Given the description of an element on the screen output the (x, y) to click on. 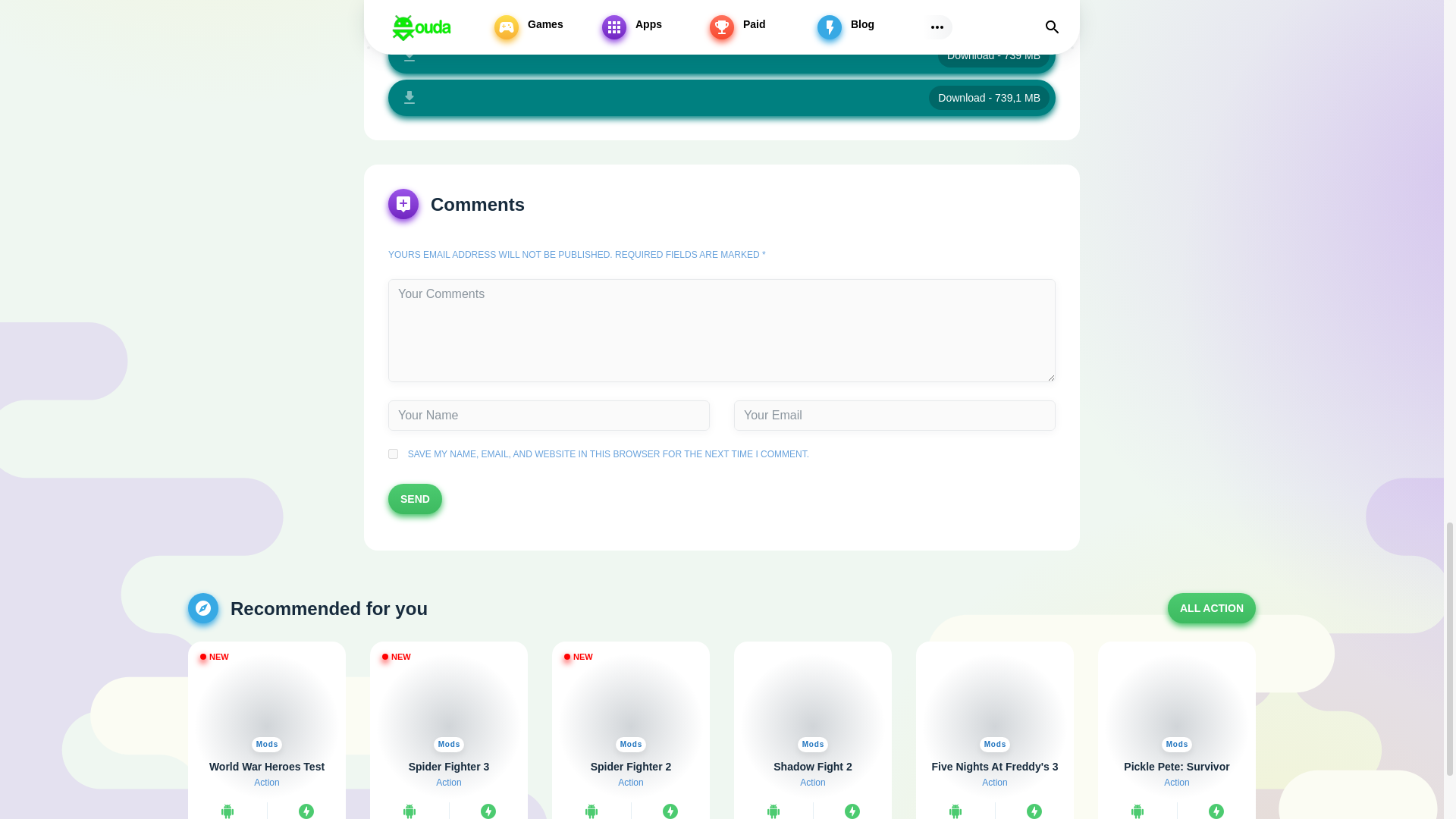
yes (392, 453)
spider-fighter-3.png (449, 702)
world-war-heroes-test.png (266, 702)
five-nights-at-freddy39s-3.png (994, 702)
pickle-pete-survivor.png (1177, 702)
spider-fighter-2.png (630, 702)
shadow-fight-2.png (813, 702)
